Given the description of an element on the screen output the (x, y) to click on. 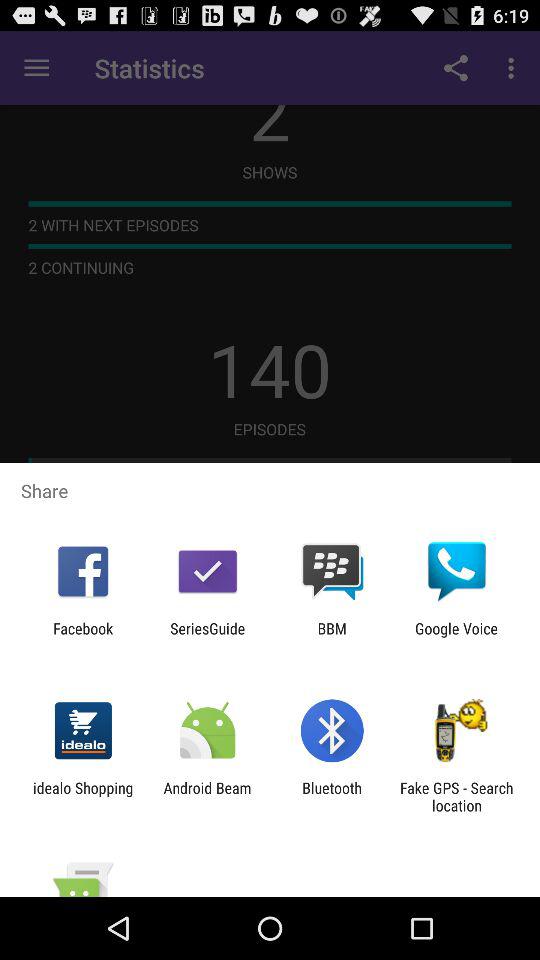
turn off the icon next to android beam (331, 796)
